Given the description of an element on the screen output the (x, y) to click on. 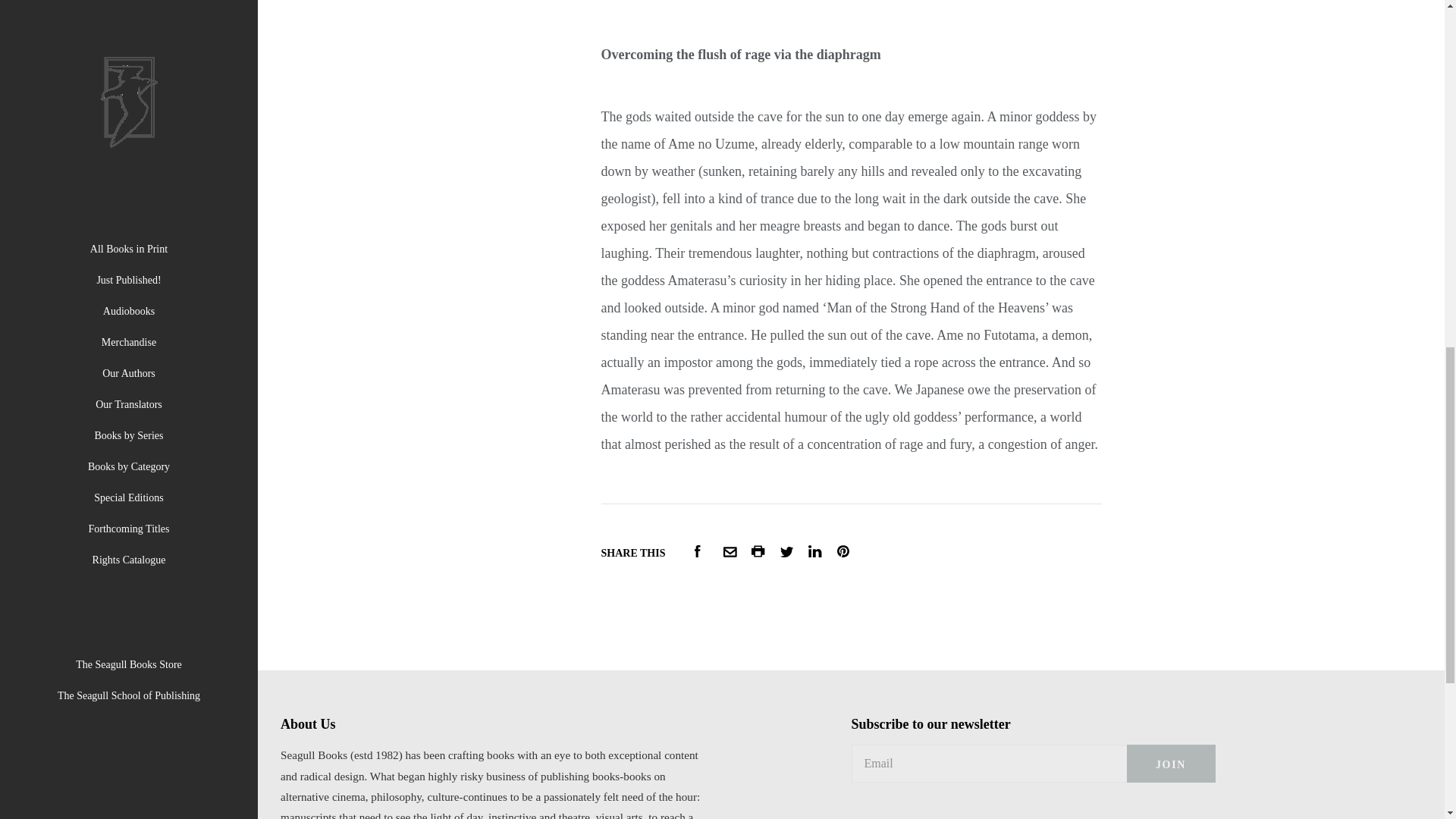
TWITTER (786, 552)
PRINT (758, 551)
EMAIL (729, 552)
LINKEDIN (815, 551)
FACEBOOK (697, 551)
PINTEREST (842, 551)
Join (1170, 763)
